Given the description of an element on the screen output the (x, y) to click on. 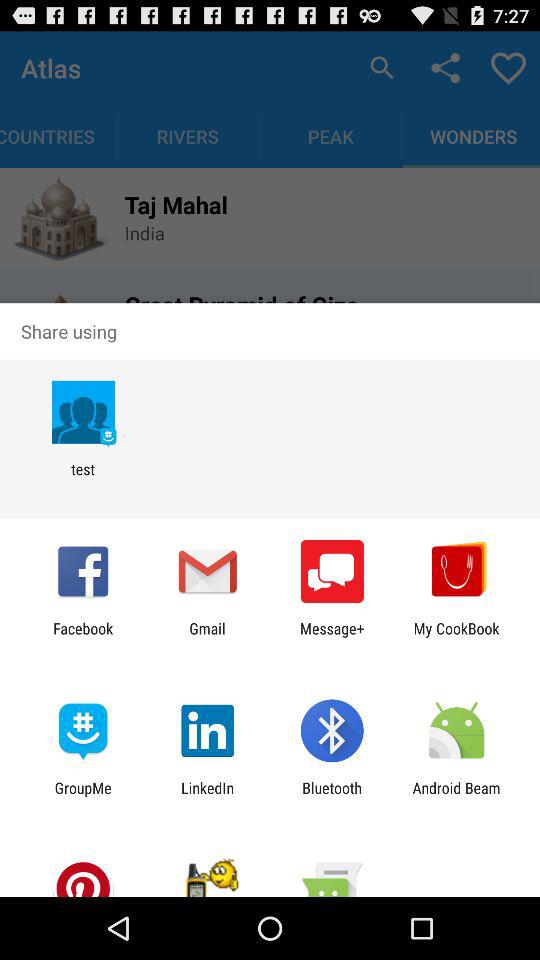
open the item to the left of message+ app (207, 637)
